Given the description of an element on the screen output the (x, y) to click on. 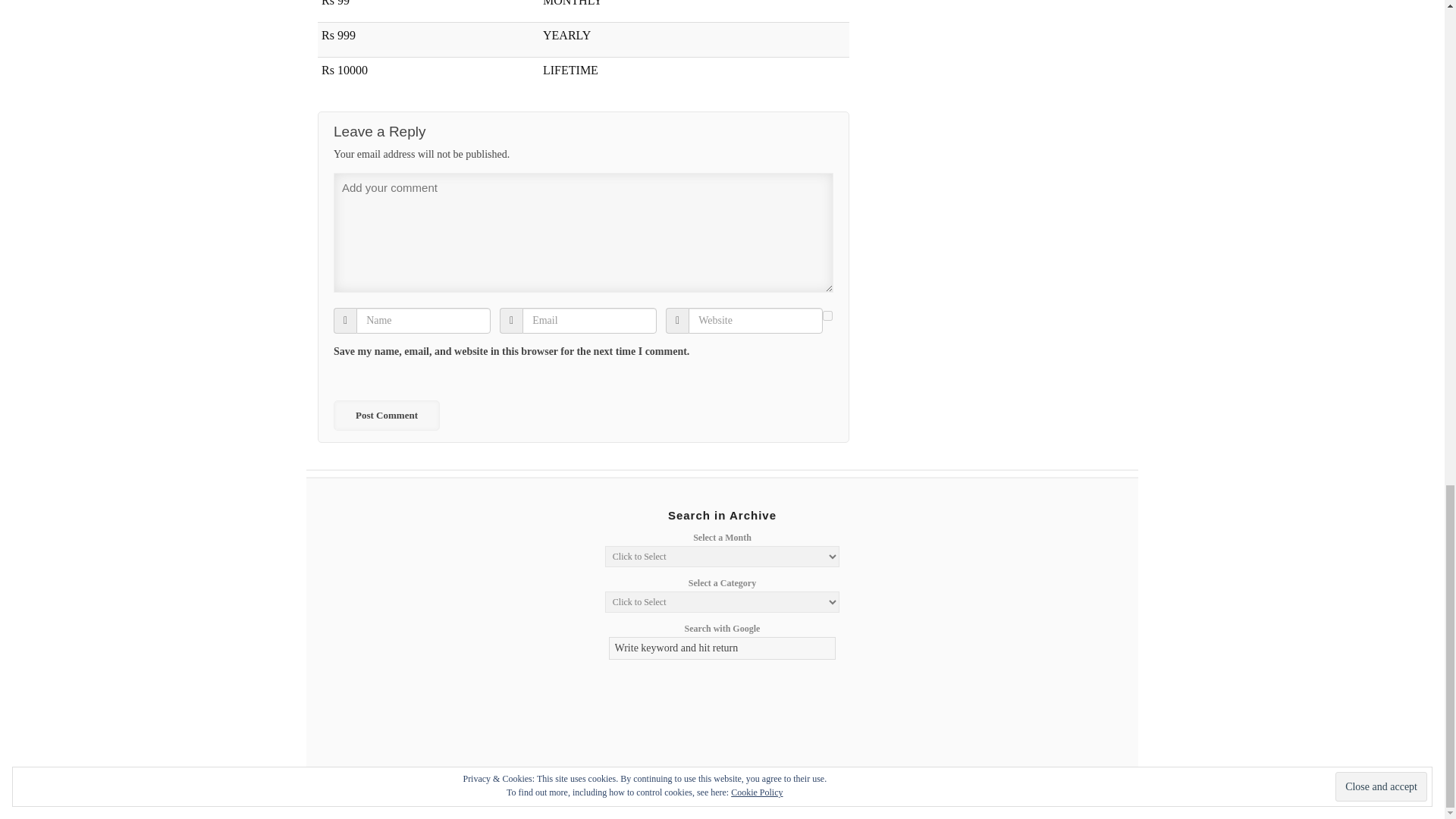
WordPress Newspaper Themes (1097, 790)
Kashmir Reader (381, 790)
Semantic Personal Publishing Platform (1017, 790)
Write keyword and hit return (721, 648)
Post Comment (386, 415)
yes (827, 316)
